Given the description of an element on the screen output the (x, y) to click on. 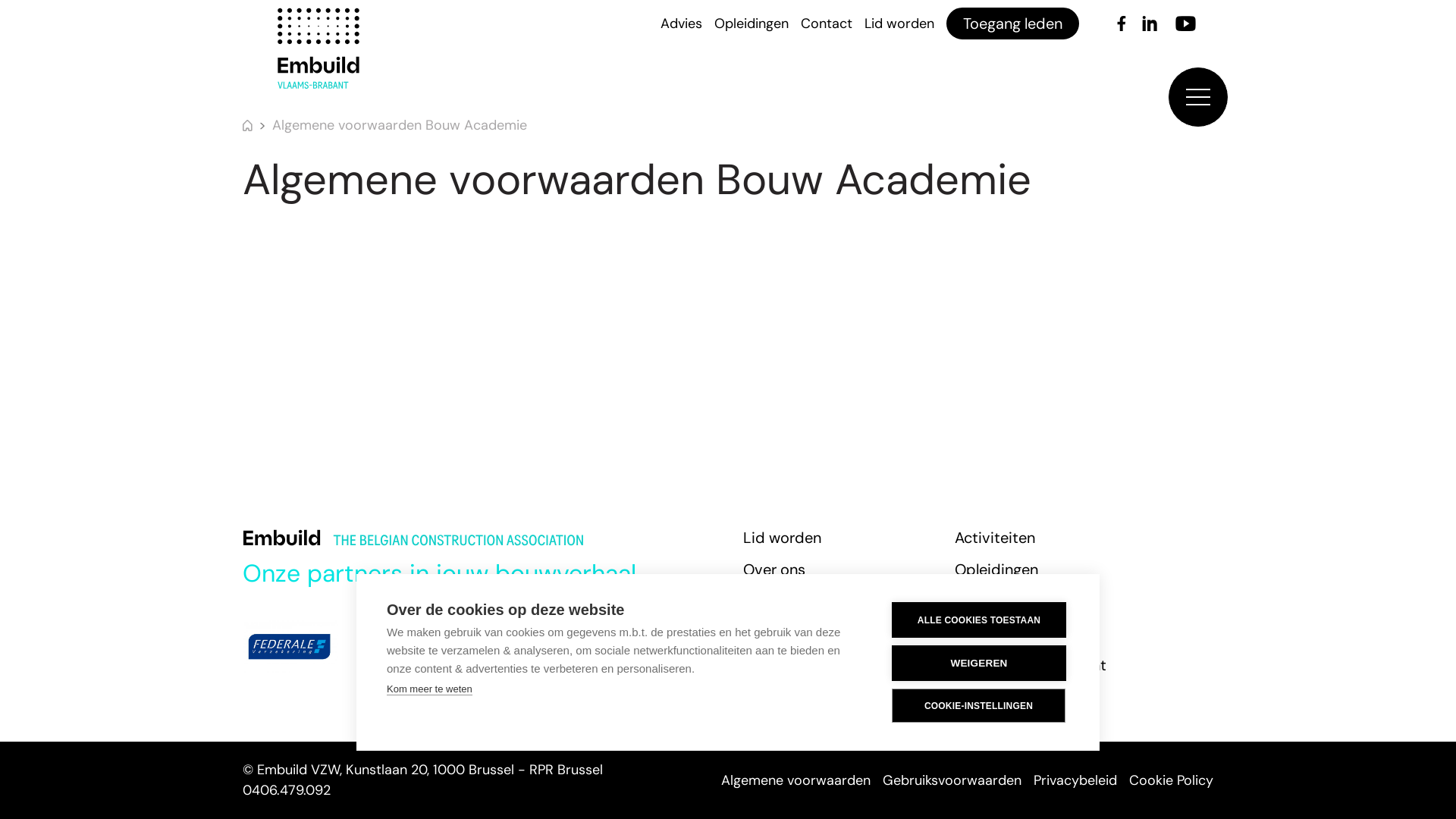
Advies Element type: text (681, 22)
Toegang leden Element type: text (1012, 23)
Advies Element type: text (977, 633)
Zoek een vakman Element type: text (803, 633)
Over ons Element type: text (774, 569)
Privacybeleid Element type: text (1075, 779)
COOKIE-INSTELLINGEN Element type: text (978, 705)
Actua Element type: text (974, 601)
Kom meer te weten Element type: text (429, 689)
Activiteiten Element type: text (994, 537)
WEIGEREN Element type: text (978, 662)
Cookie Policy Element type: text (1171, 779)
Algemene voorwaarden Element type: text (795, 779)
Lid worden Element type: text (899, 22)
Youtube Element type: hover (1185, 23)
Gebruiksvoorwaarden Element type: text (951, 779)
Overslaan en naar de inhoud gaan Element type: text (16, 4)
ALLE COOKIES TOESTAAN Element type: text (978, 619)
Contact Element type: text (826, 22)
Algemene voorwaarden Bouw Academie Element type: text (399, 125)
Jong Vlaams-Brabant Element type: text (1030, 664)
Facebook Element type: hover (1121, 23)
Opleidingen Element type: text (996, 569)
Opleidingen Element type: text (751, 22)
Vacatures Element type: text (777, 664)
Bouwkalender Element type: text (791, 601)
Lid worden Element type: text (782, 537)
LinkedIn Element type: hover (1149, 23)
